Given the description of an element on the screen output the (x, y) to click on. 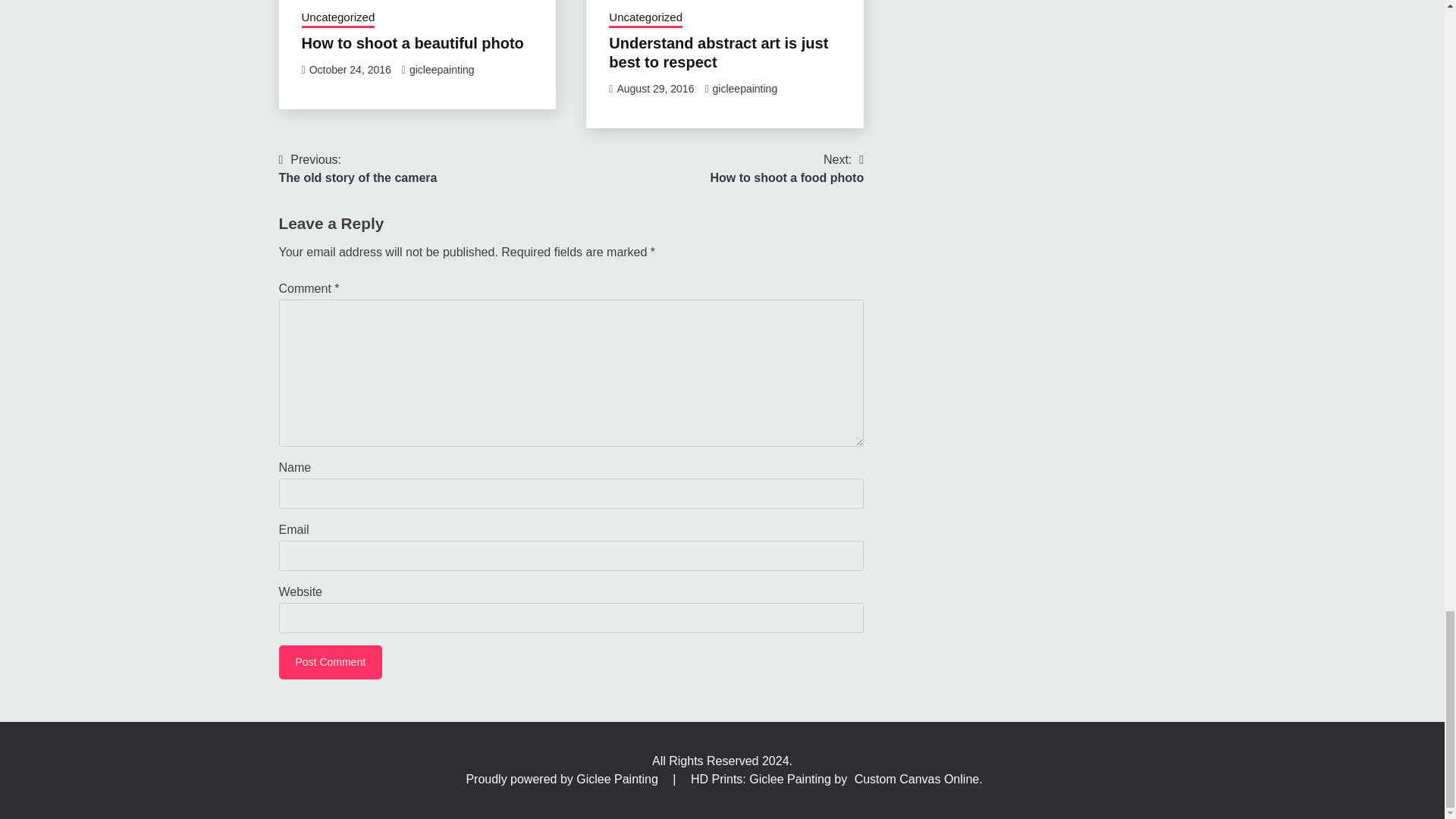
Post Comment (330, 662)
gicleepainting (745, 88)
Understand abstract art is just best to respect (718, 52)
October 24, 2016 (349, 69)
August 29, 2016 (654, 88)
Uncategorized (338, 18)
Uncategorized (645, 18)
How to shoot a beautiful photo (358, 168)
gicleepainting (412, 43)
